Given the description of an element on the screen output the (x, y) to click on. 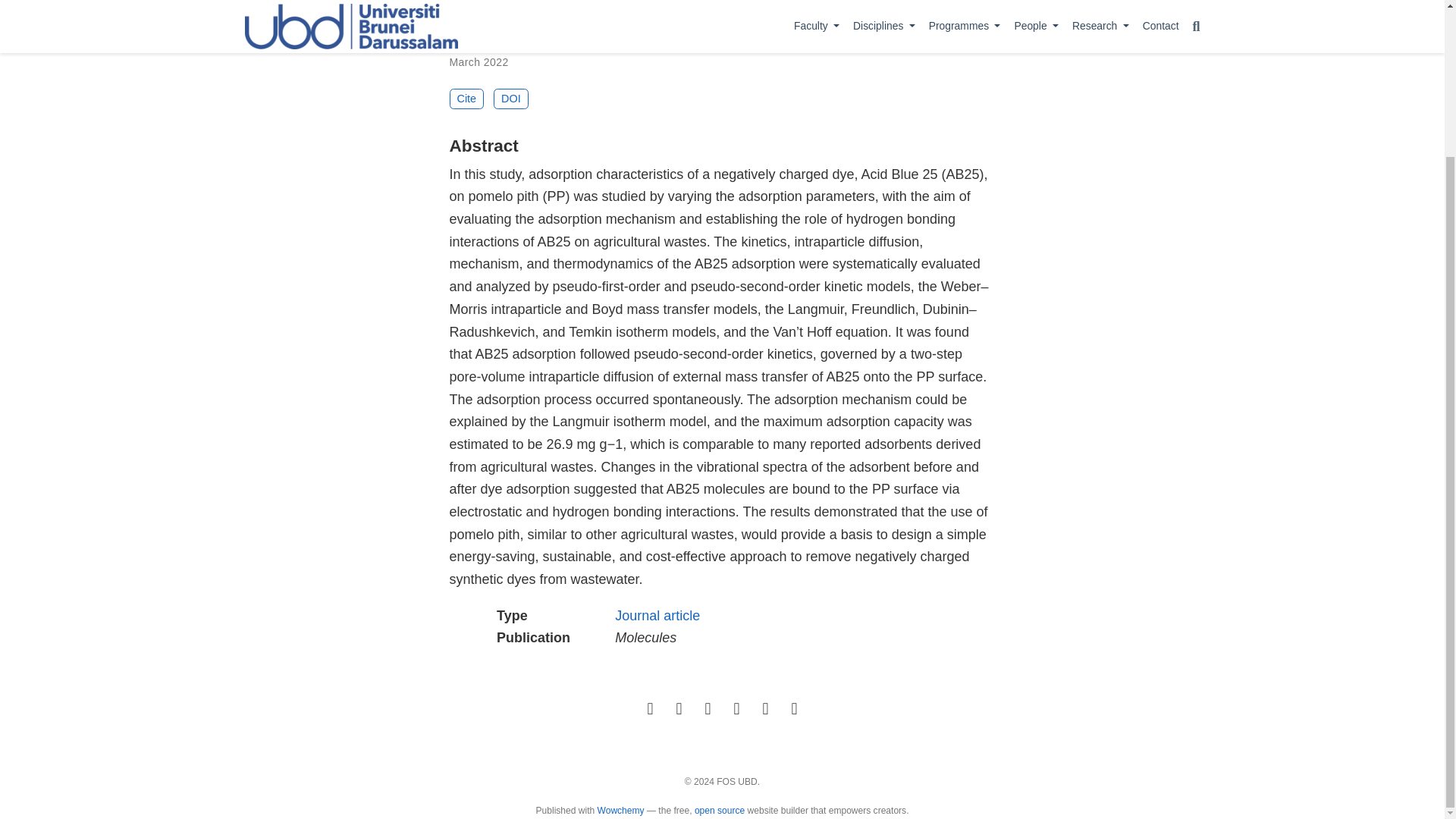
Nur Alimatul Hakimah Narudin (680, 27)
Muhammad Nur (534, 44)
Jonathan Hobley (621, 44)
Ensan Waatriah E. S. Shahrin (523, 27)
Nurulizzatul Ningsheh M. Shahri (843, 27)
Anwar Usman (704, 44)
Sera Budi Verinda (713, 35)
